Given the description of an element on the screen output the (x, y) to click on. 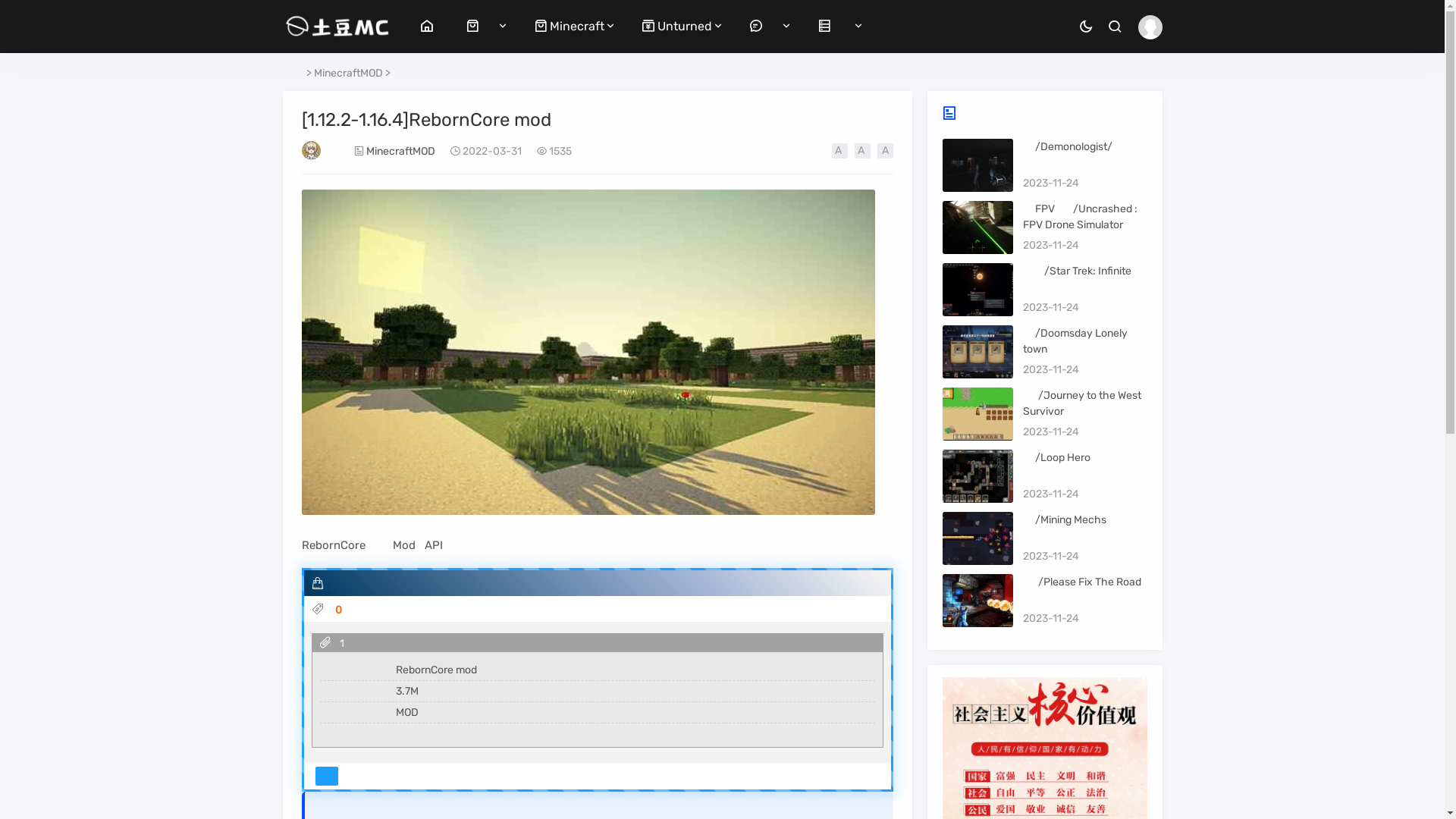
MinecraftMOD Element type: text (347, 72)
Unturned Element type: text (677, 25)
Minecraft Element type: text (569, 25)
MinecraftMOD Element type: text (399, 150)
